Given the description of an element on the screen output the (x, y) to click on. 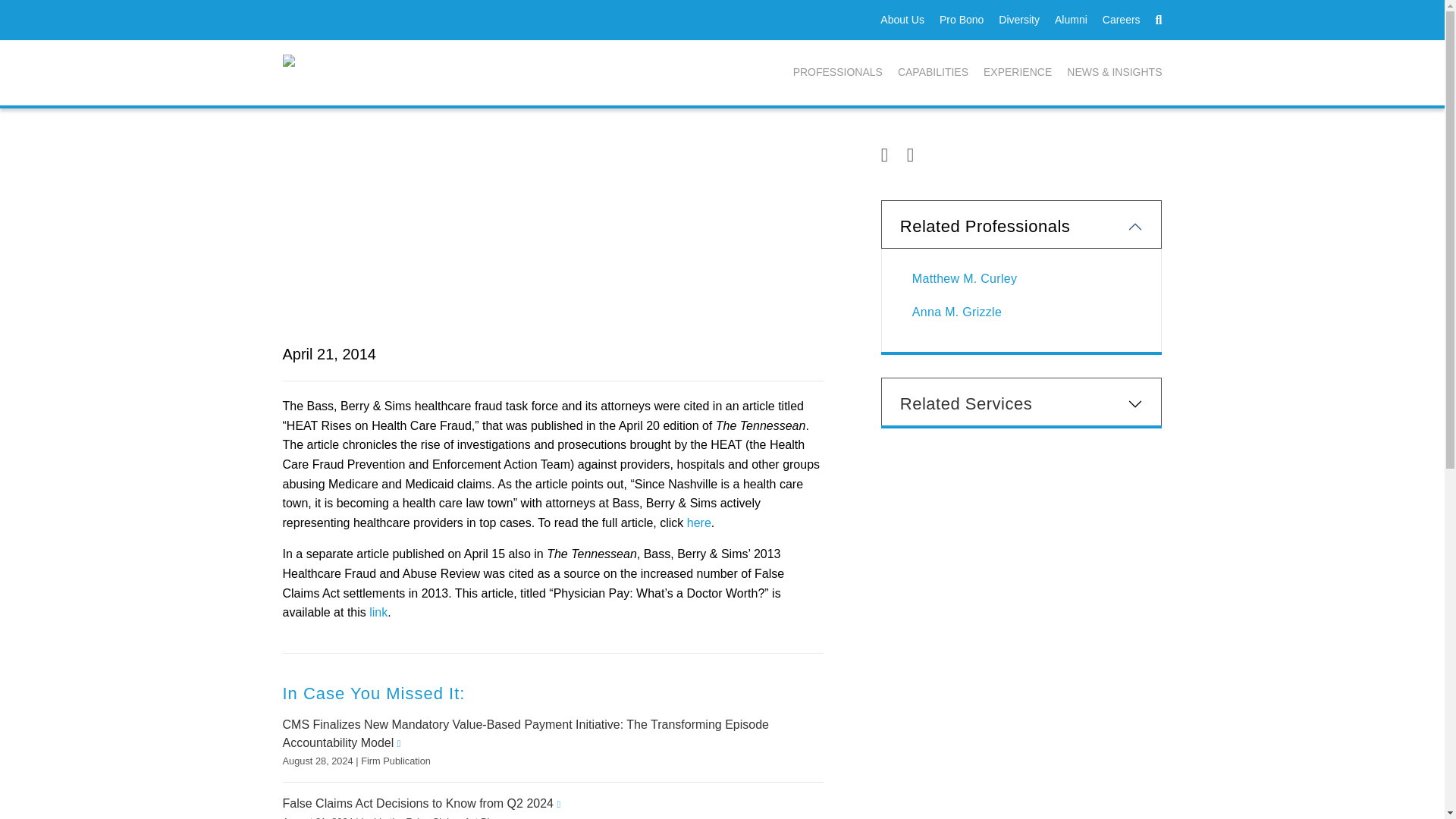
Diversity (1018, 19)
EXPERIENCE (1017, 72)
CAPABILITIES (933, 72)
About Us (902, 19)
Alumni (1070, 19)
PROFESSIONALS (837, 72)
Pro Bono (961, 19)
Careers (1121, 19)
